Given the description of an element on the screen output the (x, y) to click on. 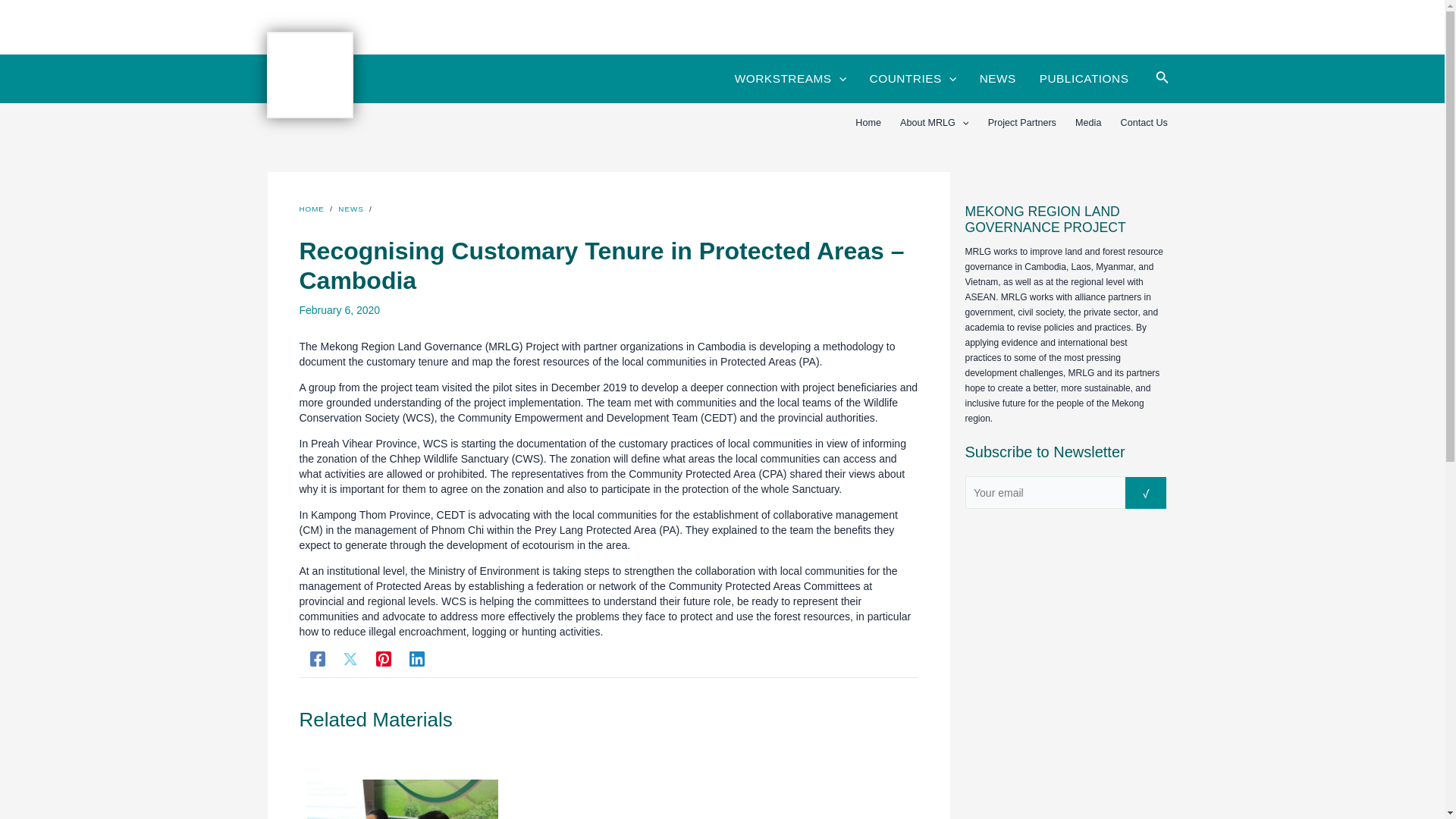
PUBLICATIONS (1083, 78)
Contact Us (1143, 122)
NEWS (997, 78)
About MRLG (933, 122)
COUNTRIES (912, 78)
HOME (310, 208)
Project Partners (1021, 122)
Media (1088, 122)
Home (868, 122)
WORKSTREAMS (789, 78)
